Given the description of an element on the screen output the (x, y) to click on. 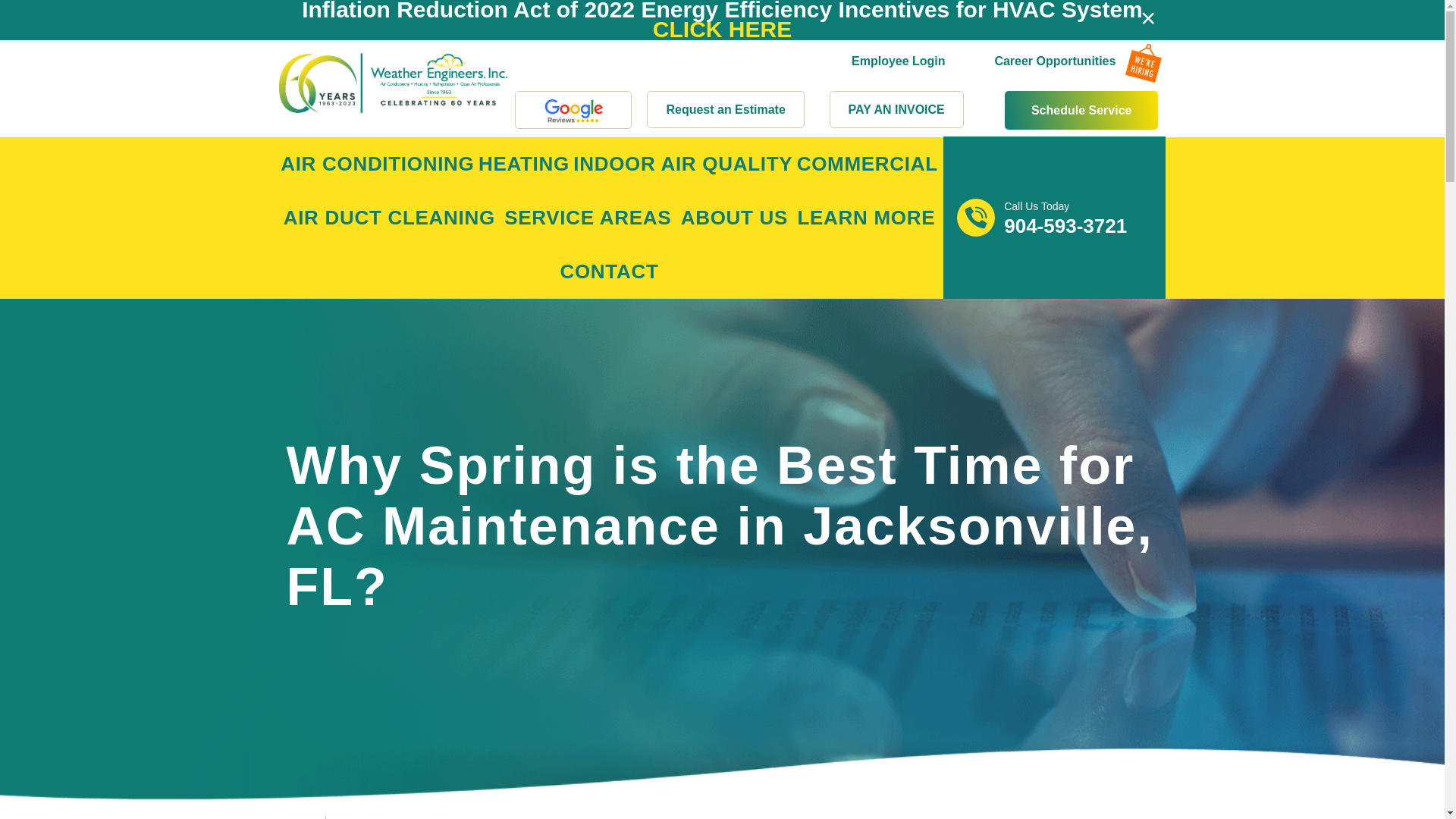
INDOOR AIR QUALITY (683, 163)
AIR CONDITIONING (378, 163)
CLICK HERE (722, 28)
Request an Estimate (724, 108)
PAY AN INVOICE (896, 108)
Employee Login (897, 40)
Career Opportunities (1054, 42)
HEATING (523, 163)
Schedule Service (1081, 109)
